Given the description of an element on the screen output the (x, y) to click on. 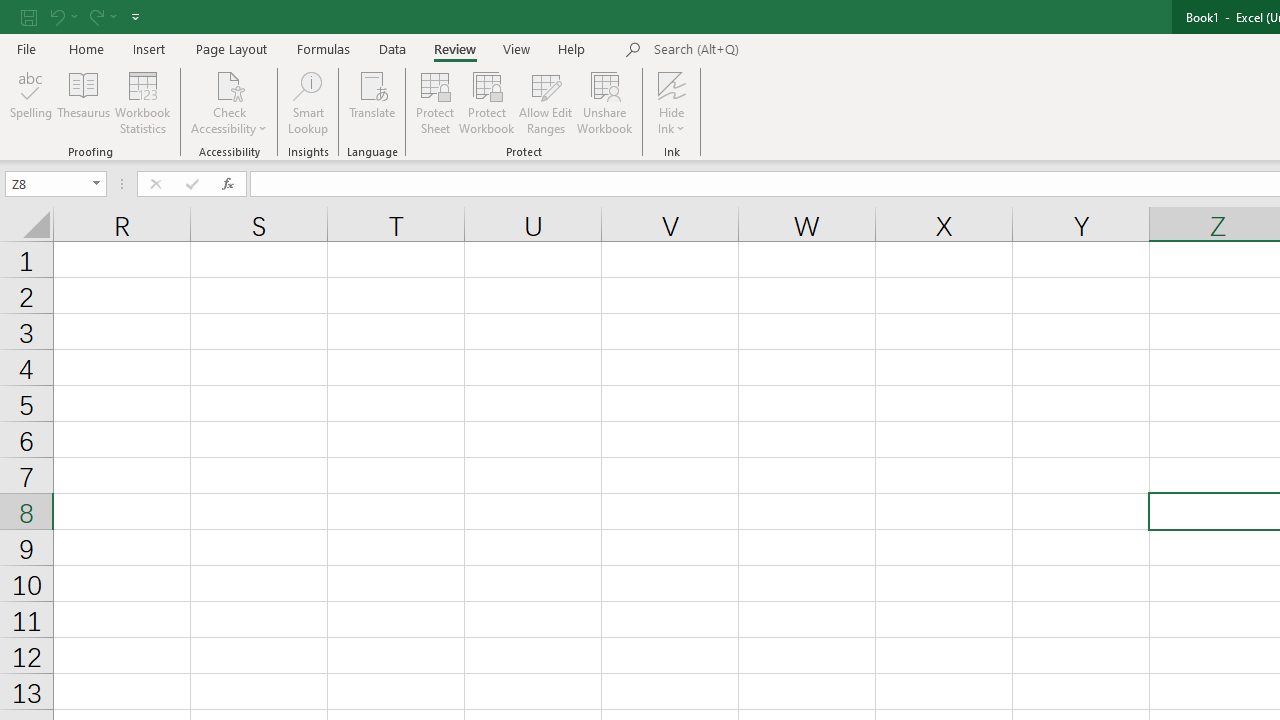
System (10, 11)
More Options (671, 121)
Hide Ink (671, 84)
Workbook Statistics (142, 102)
Protect Sheet... (434, 102)
Check Accessibility (229, 84)
Check Accessibility (229, 102)
Quick Access Toolbar (82, 16)
Insert (149, 48)
Redo (102, 15)
Allow Edit Ranges (545, 102)
System (10, 11)
Name Box (56, 183)
Save (29, 15)
